Given the description of an element on the screen output the (x, y) to click on. 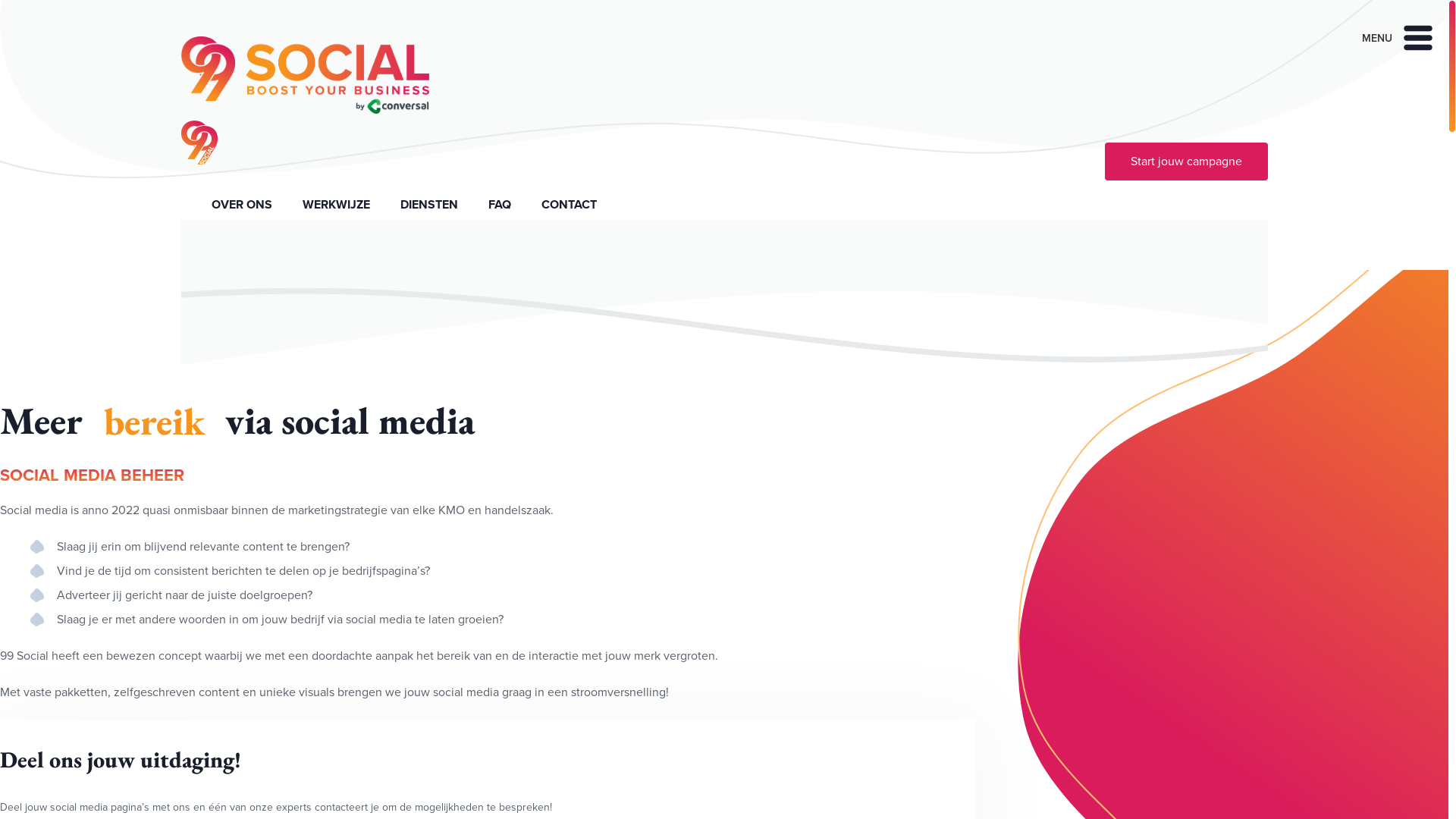
OVER ONS Element type: text (240, 204)
FAQ Element type: text (499, 204)
CONTACT Element type: text (568, 204)
WERKWIJZE Element type: text (335, 204)
DIENSTEN Element type: text (429, 204)
Start jouw campagne Element type: text (1185, 161)
Menu Element type: text (1395, 37)
